Given the description of an element on the screen output the (x, y) to click on. 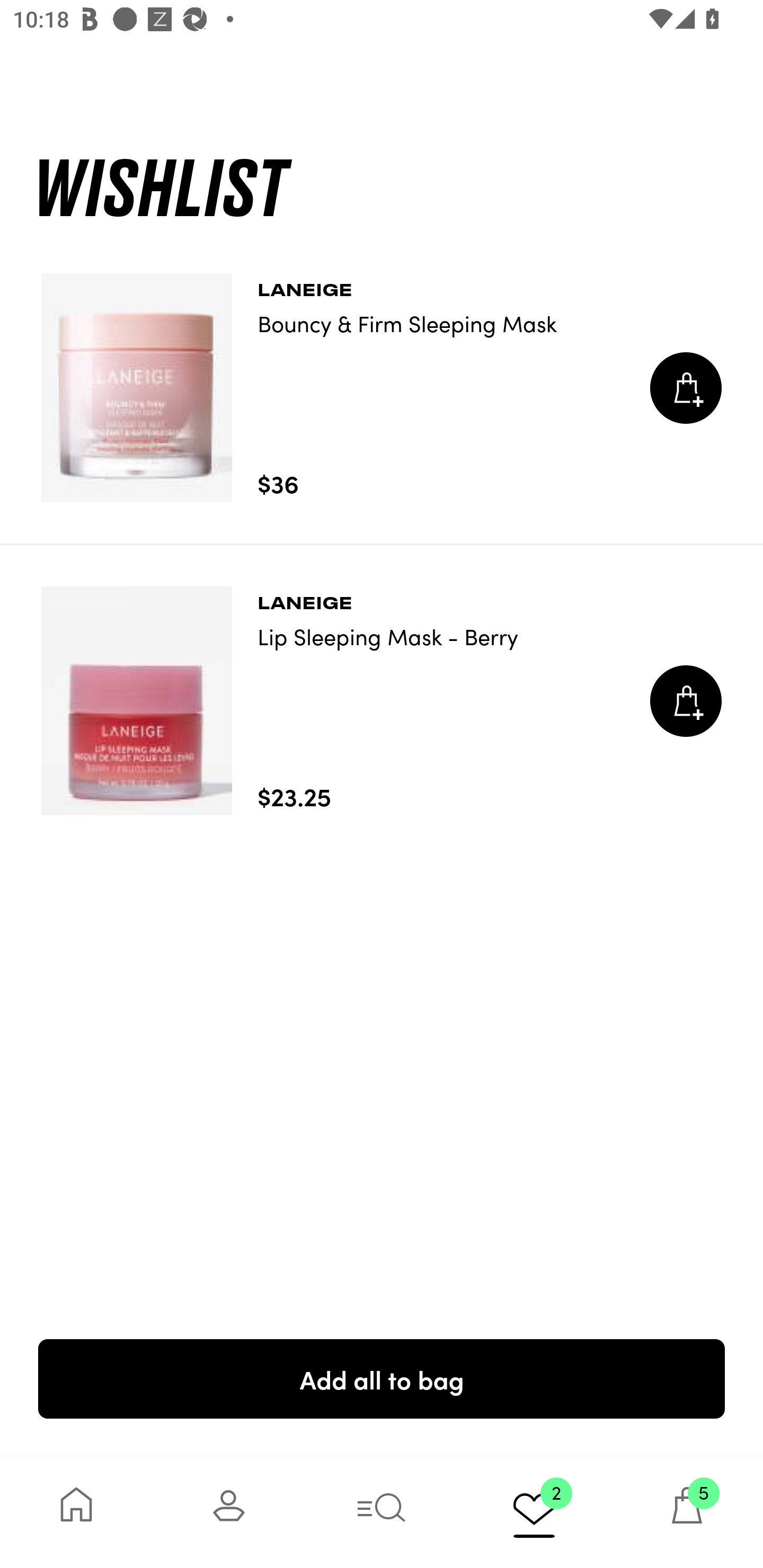
LANEIGE Bouncy & Firm Sleeping Mask $36 (381, 388)
LANEIGE Lip Sleeping Mask - Berry $23.25 (381, 700)
Add all to bag (381, 1379)
2 (533, 1512)
5 (686, 1512)
